Given the description of an element on the screen output the (x, y) to click on. 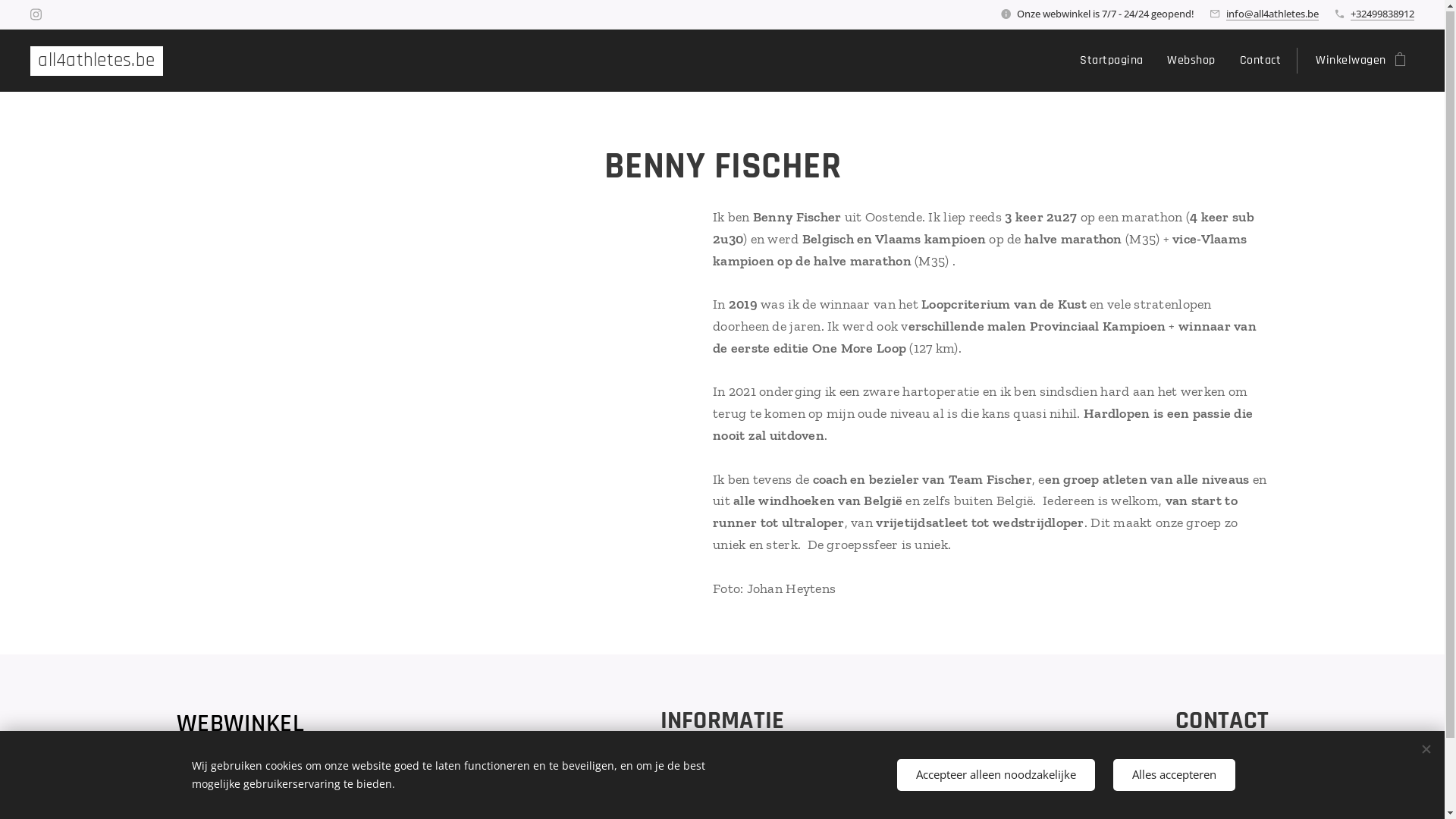
Privacybeleid Element type: text (722, 786)
all4athletes.be Element type: text (96, 61)
Instagram Element type: hover (35, 15)
Contact Element type: text (1259, 61)
Webshop Element type: text (1190, 61)
Winkelwagen Element type: text (1355, 61)
Accepteer alleen noodzakelijke Element type: text (995, 774)
+32499838912 Element type: text (1382, 14)
Algemene Voorwaarden Element type: text (721, 766)
info@all4athletes.be Element type: text (1272, 14)
Ontdek hier al onze producten!! Element type: text (266, 760)
Startpagina Element type: text (1115, 61)
Alles accepteren Element type: text (1174, 774)
